Given the description of an element on the screen output the (x, y) to click on. 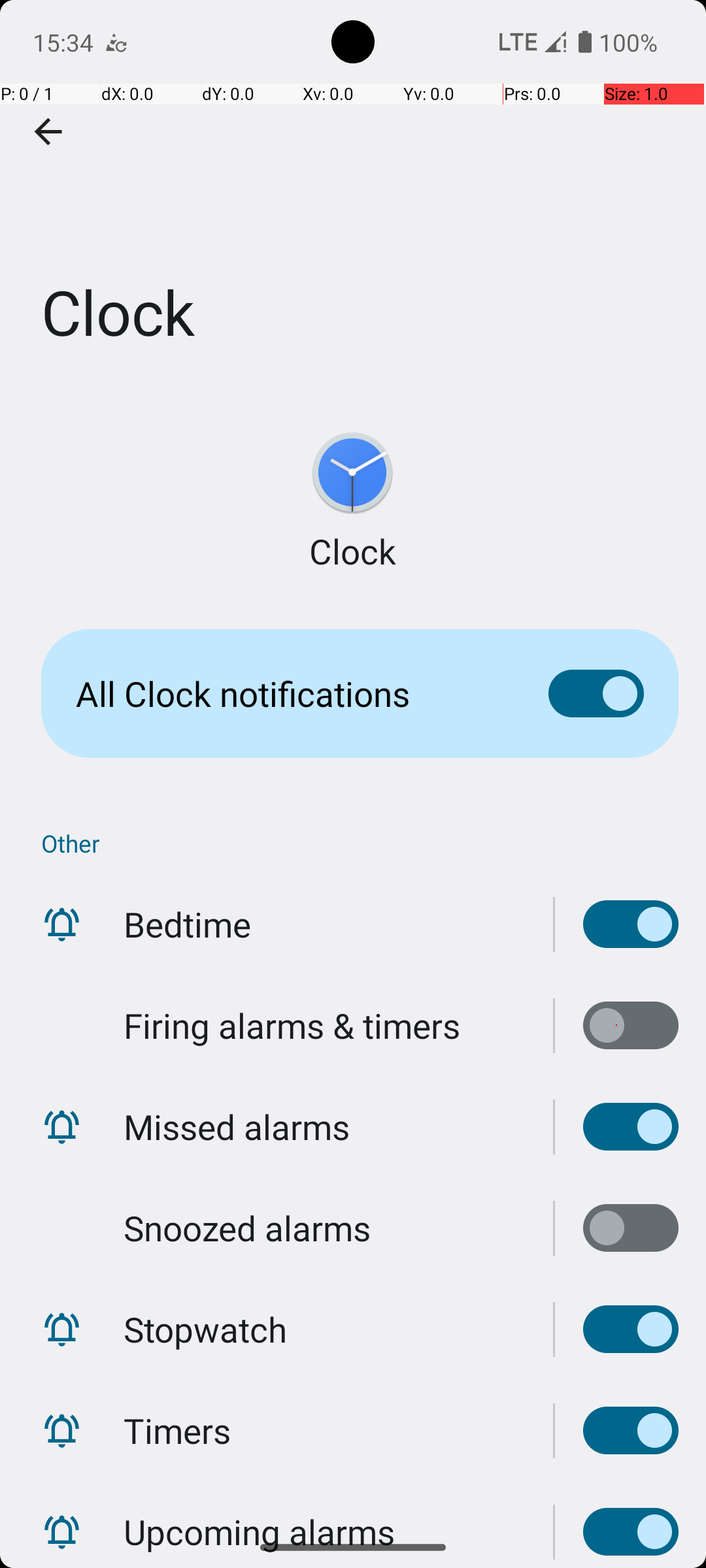
All Clock notifications Element type: android.widget.TextView (291, 693)
Firing alarms & timers Element type: android.widget.TextView (291, 1025)
Missed alarms Element type: android.widget.TextView (236, 1126)
Snoozed alarms Element type: android.widget.TextView (247, 1227)
Timers Element type: android.widget.TextView (176, 1430)
Upcoming alarms Element type: android.widget.TextView (258, 1517)
